Given the description of an element on the screen output the (x, y) to click on. 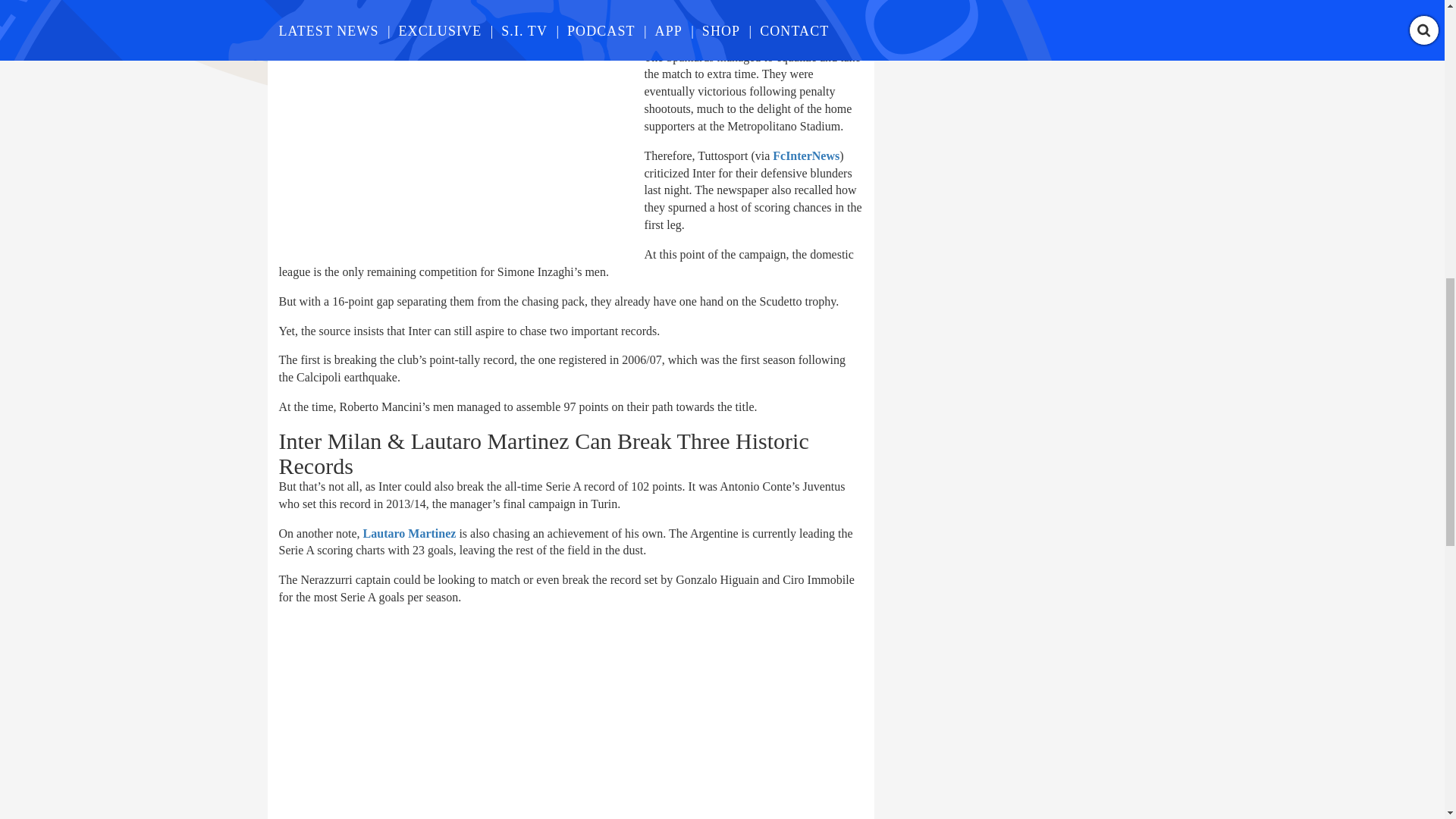
Lautaro Martinez (409, 533)
FcInterNews (806, 155)
YouTube video player (491, 719)
